Given the description of an element on the screen output the (x, y) to click on. 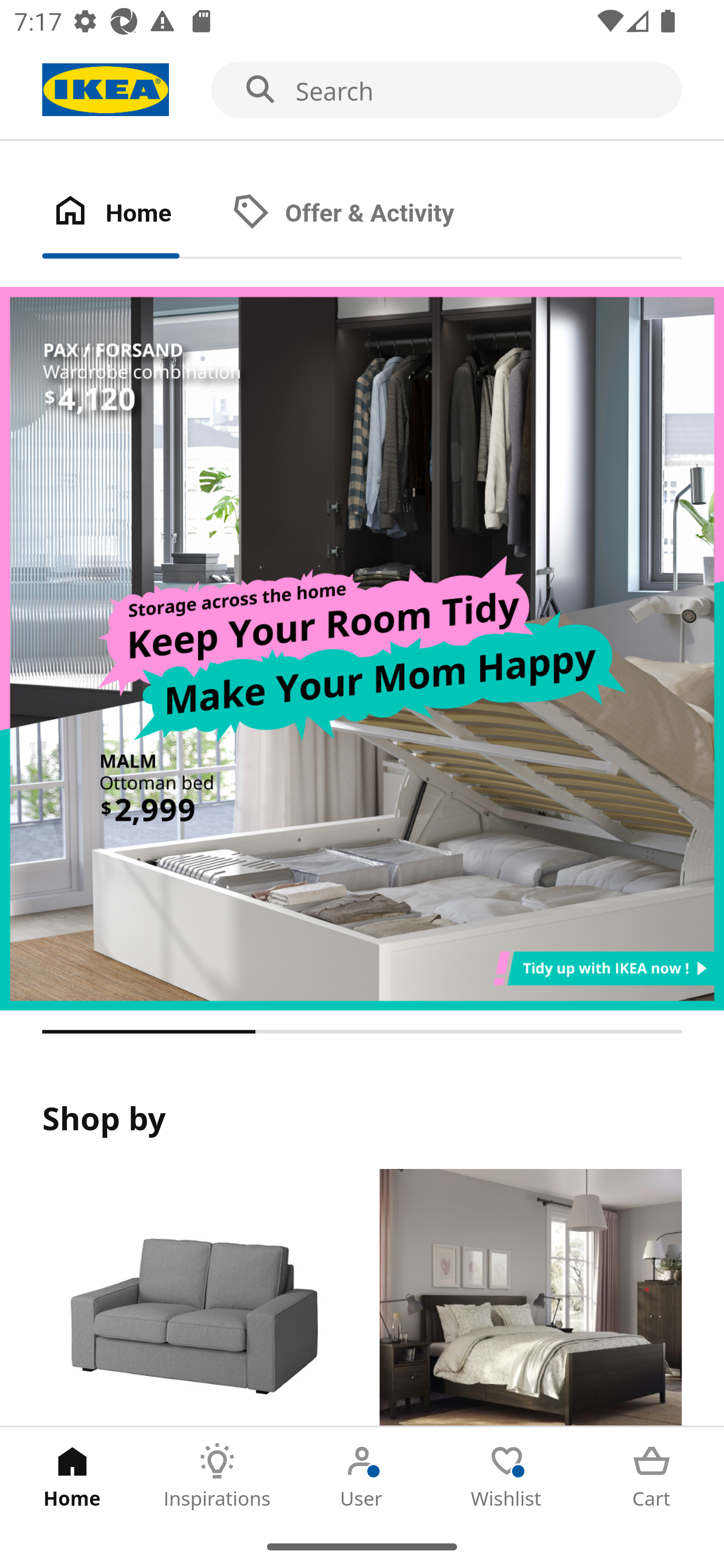
Search (361, 90)
Home
Tab 1 of 2 (131, 213)
Offer & Activity
Tab 2 of 2 (363, 213)
Products (192, 1297)
Rooms (530, 1297)
Home
Tab 1 of 5 (72, 1476)
Inspirations
Tab 2 of 5 (216, 1476)
User
Tab 3 of 5 (361, 1476)
Wishlist
Tab 4 of 5 (506, 1476)
Cart
Tab 5 of 5 (651, 1476)
